Given the description of an element on the screen output the (x, y) to click on. 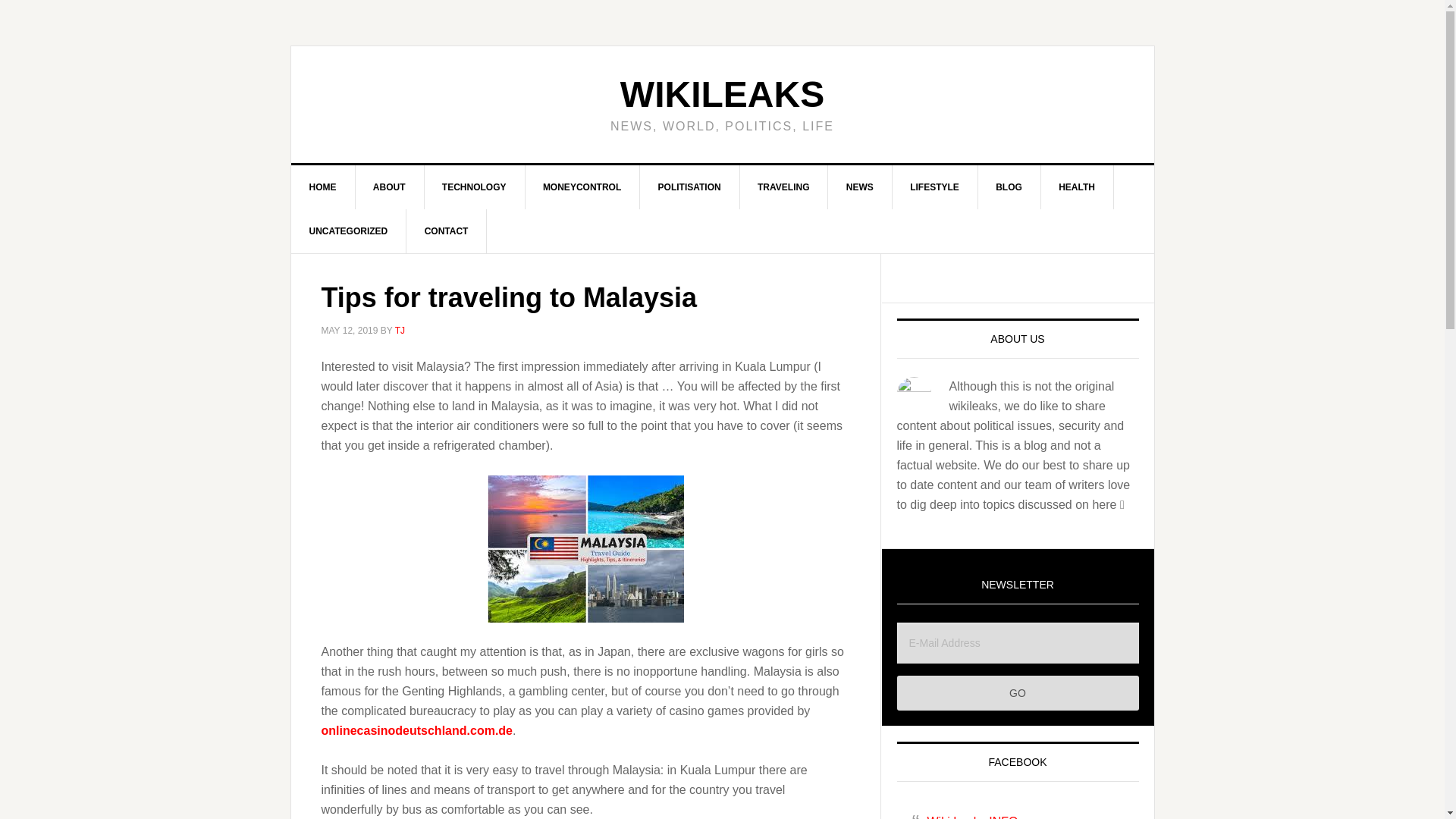
HEALTH (1077, 187)
UNCATEGORIZED (349, 231)
LIFESTYLE (934, 187)
Go (1017, 692)
Wiki Leaks INFO (971, 816)
CONTACT (446, 231)
NEWS (860, 187)
BLOG (1008, 187)
POLITISATION (689, 187)
